Given the description of an element on the screen output the (x, y) to click on. 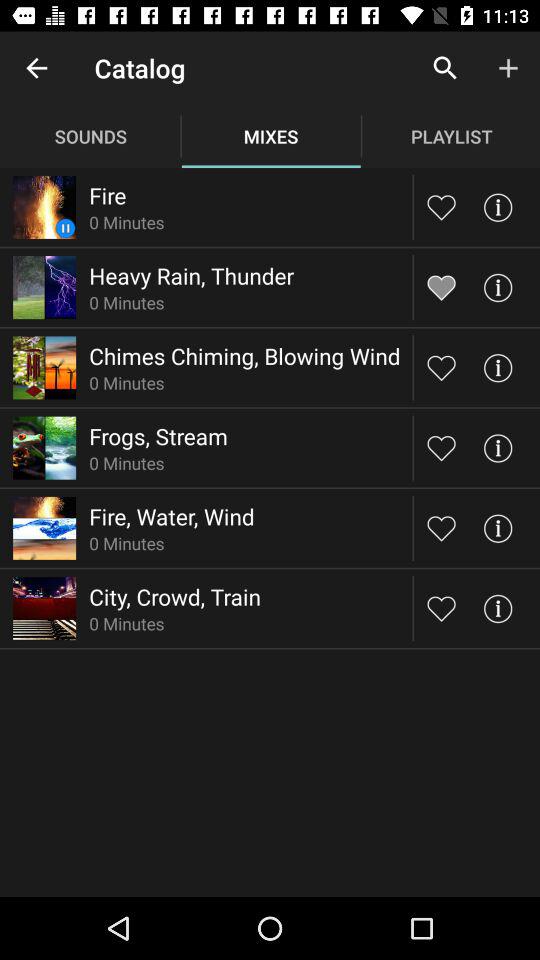
like song (441, 367)
